Given the description of an element on the screen output the (x, y) to click on. 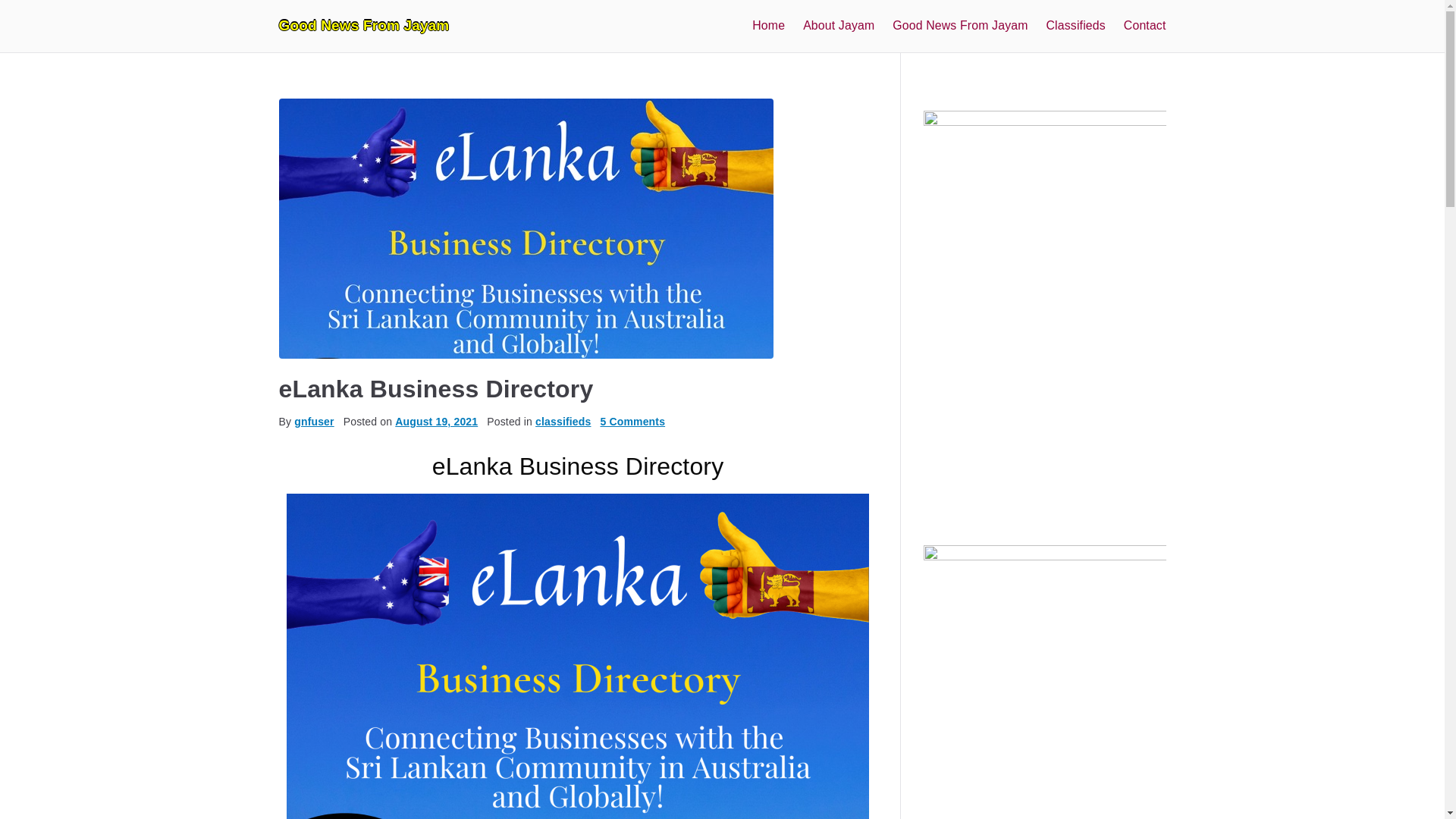
Good News From Jayam (364, 25)
About Jayam (839, 25)
Good News From Jayam (959, 25)
gnfuser (313, 421)
Contact (1145, 25)
5 Comments (632, 421)
Classifieds (1075, 25)
eLanka Business Directory (436, 388)
